Given the description of an element on the screen output the (x, y) to click on. 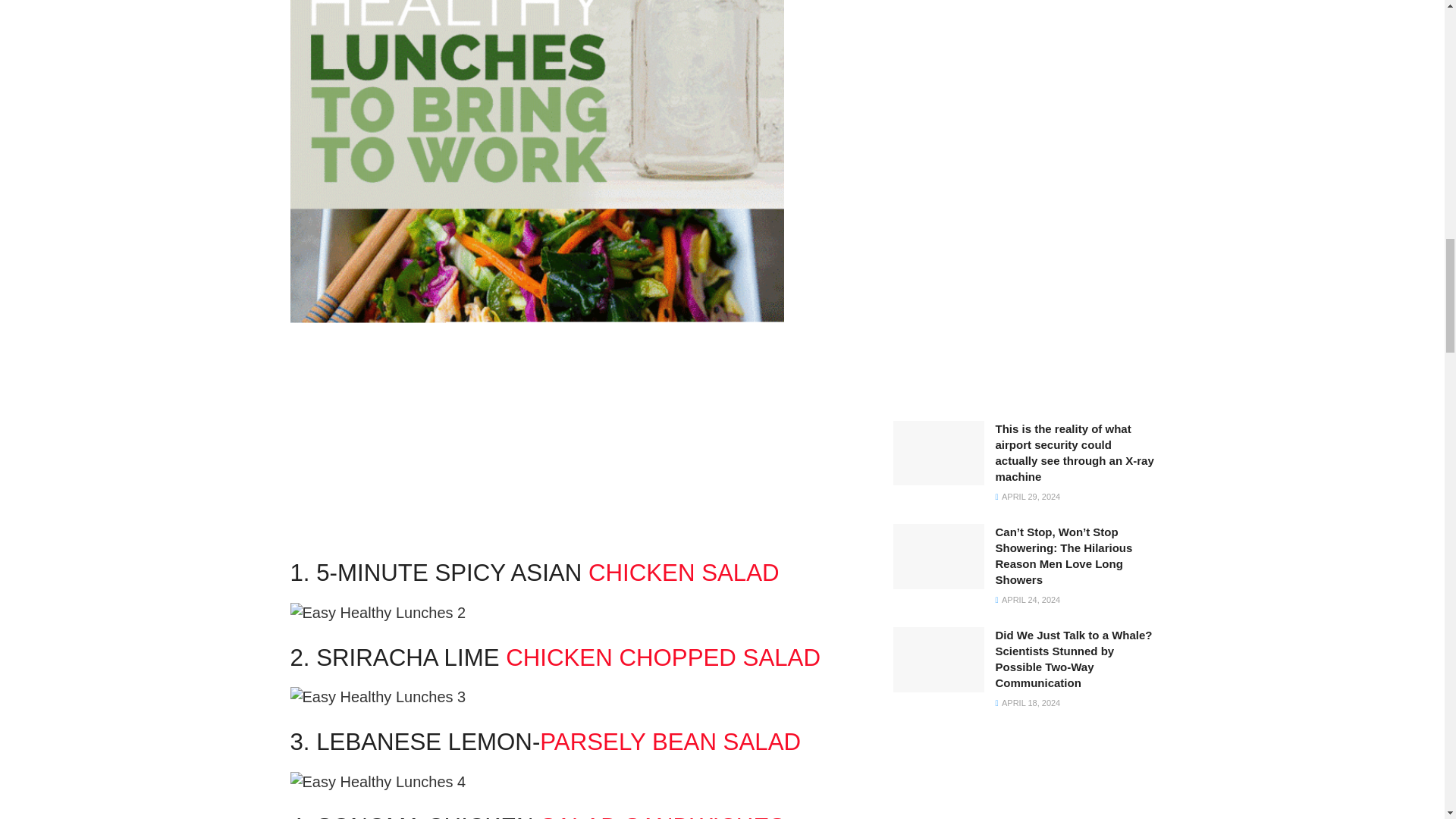
Easy Healthy Lunches (377, 612)
Easy Healthy Lunches (377, 696)
Easy Healthy Lunches (377, 781)
